Given the description of an element on the screen output the (x, y) to click on. 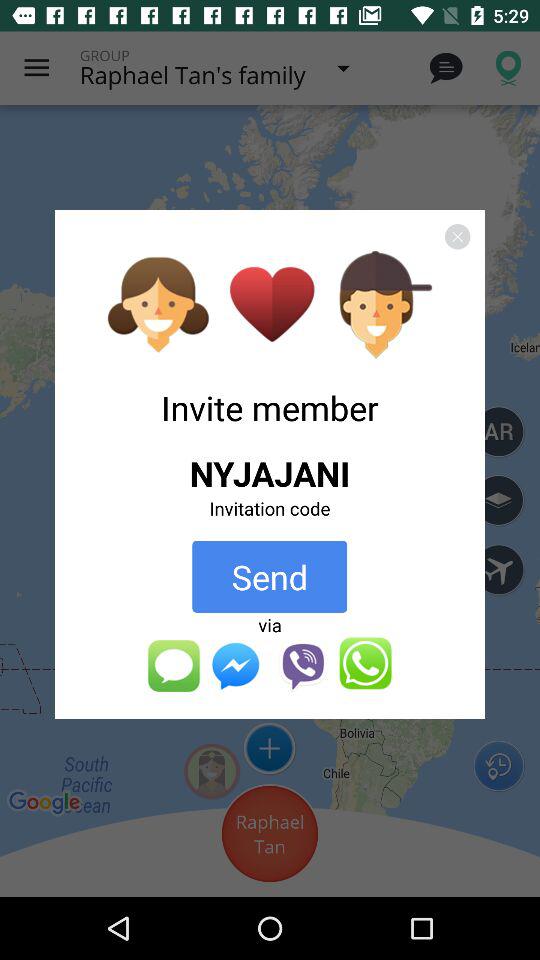
apps (269, 664)
